Given the description of an element on the screen output the (x, y) to click on. 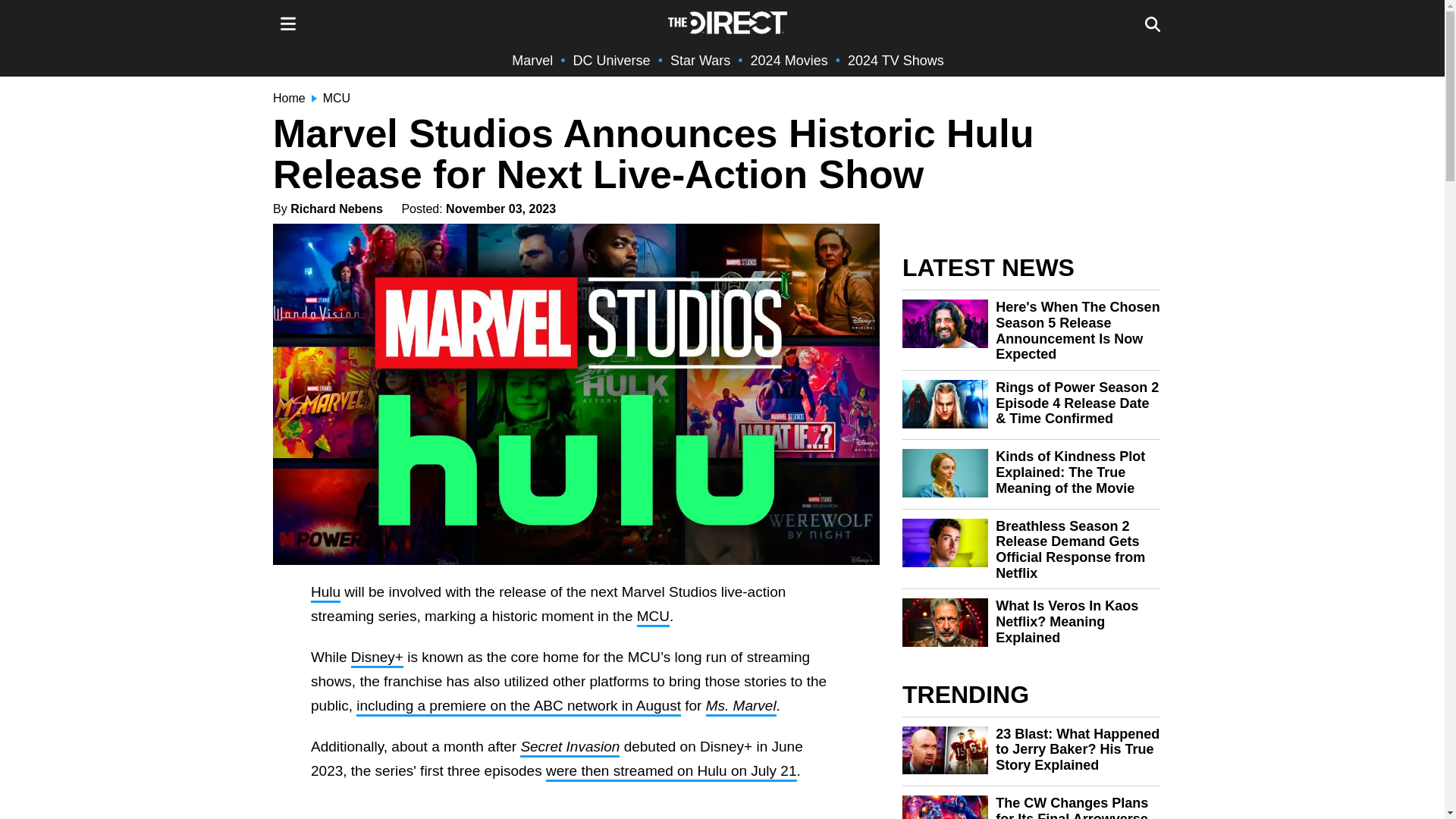
2024 Movies (789, 60)
Star Wars (699, 60)
Marvel (532, 60)
2024 TV Shows (895, 60)
DC Universe (611, 60)
